Given the description of an element on the screen output the (x, y) to click on. 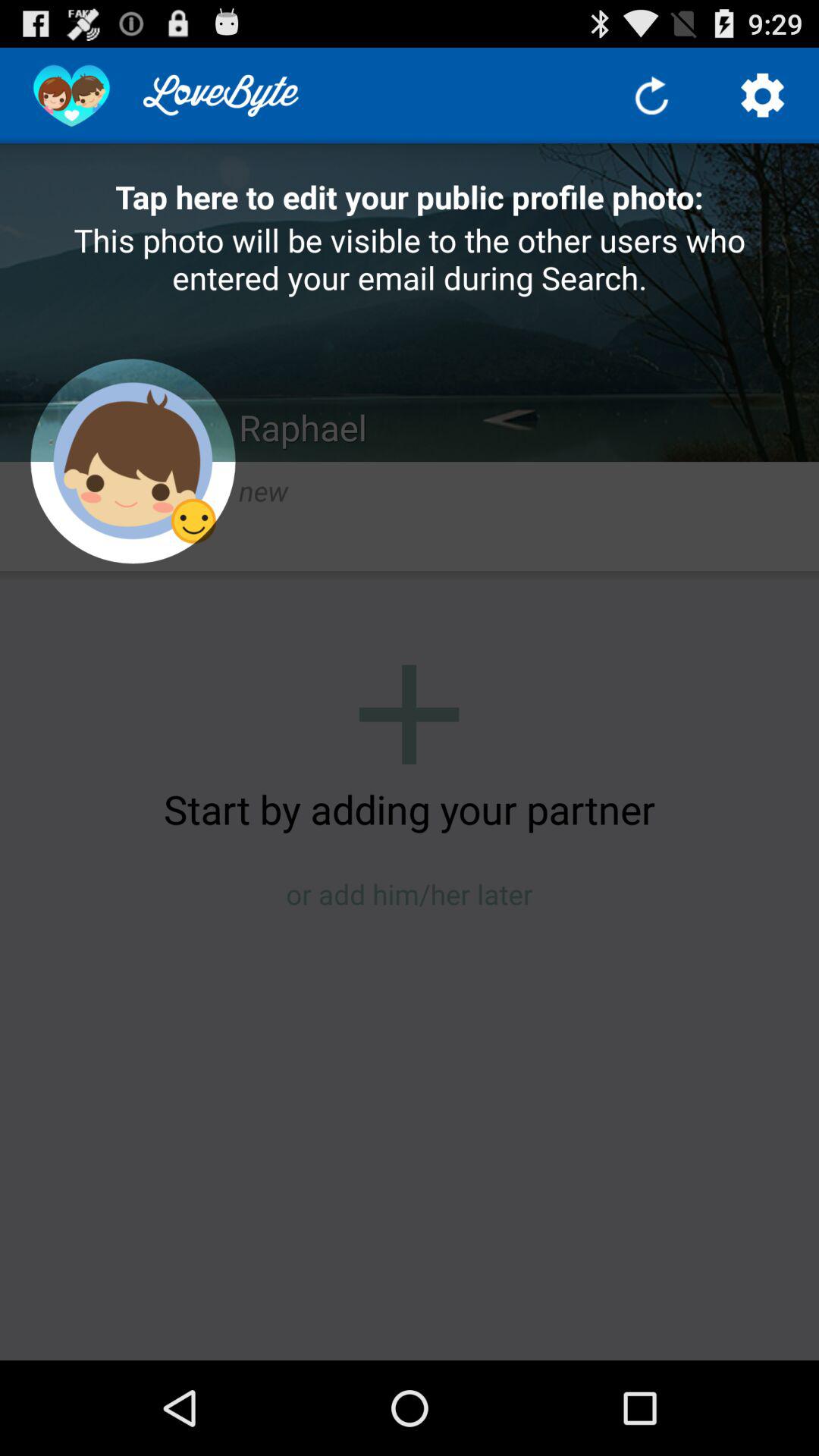
flip to the start by adding icon (409, 808)
